Given the description of an element on the screen output the (x, y) to click on. 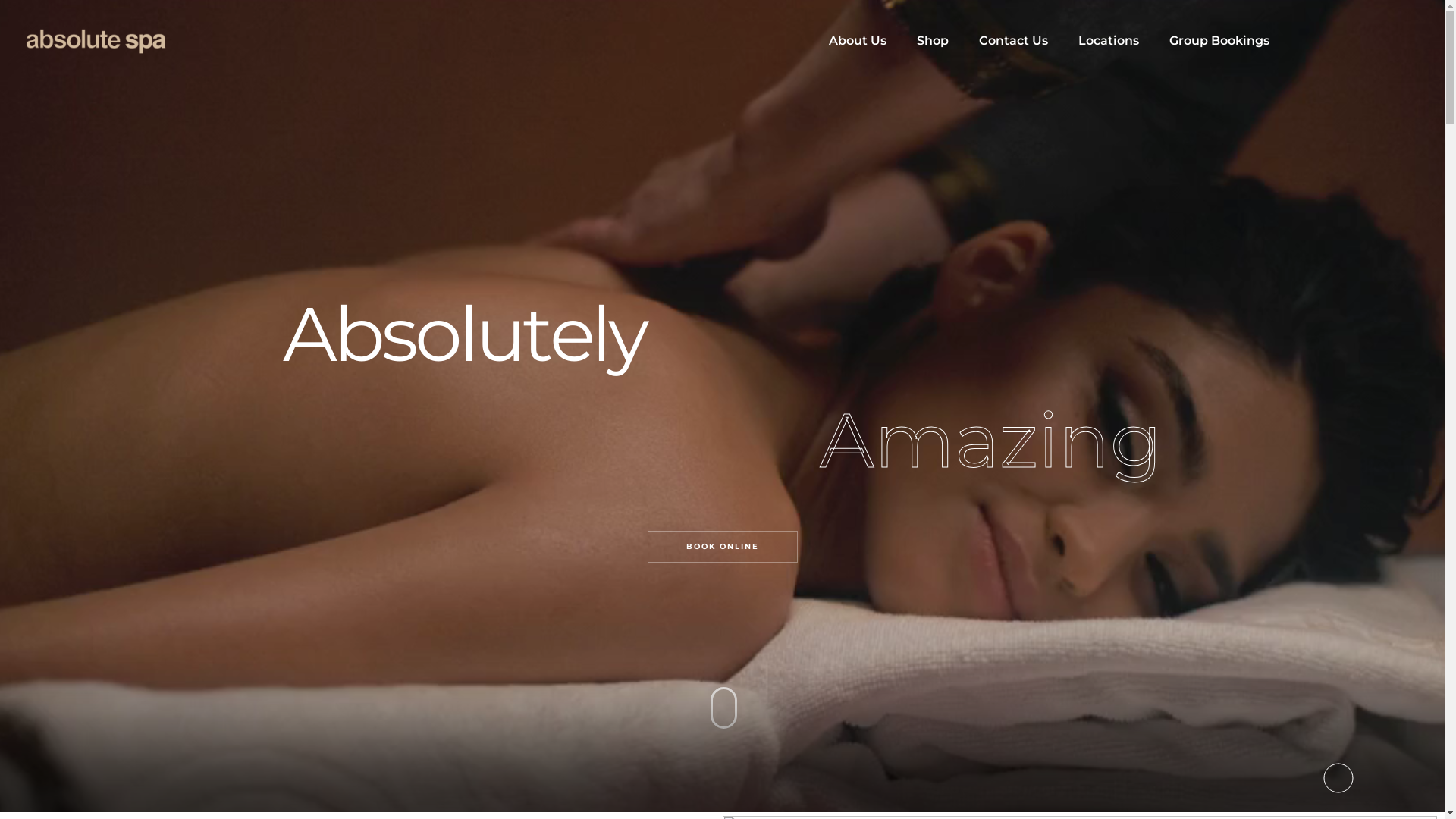
Locations Element type: text (1108, 40)
Contact Us Element type: text (1013, 40)
BOOK ONLINE Element type: text (721, 546)
Shop Element type: text (932, 40)
Group Bookings Element type: text (1219, 40)
About Us Element type: text (857, 40)
